Given the description of an element on the screen output the (x, y) to click on. 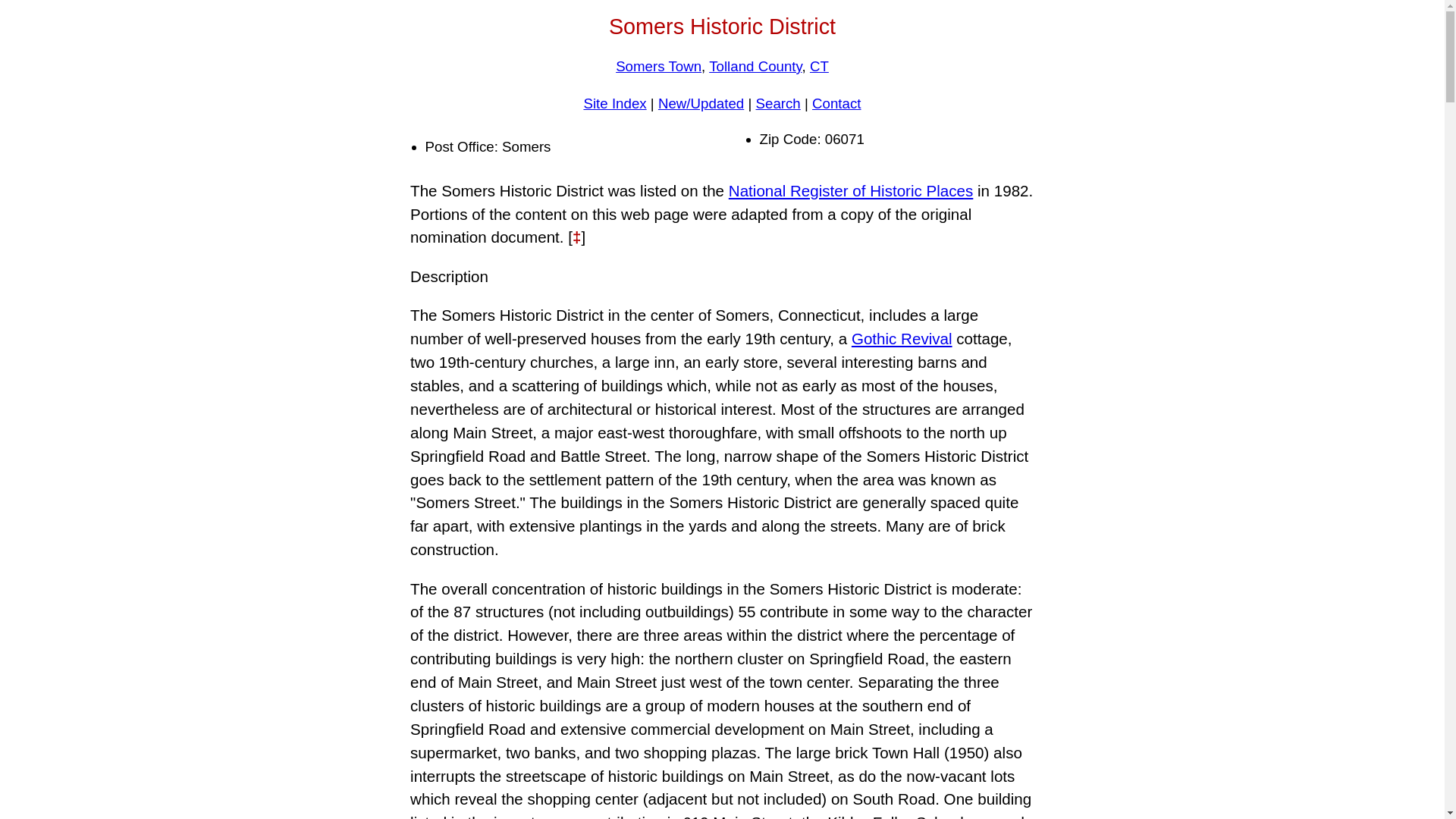
Site Index (614, 103)
